Given the description of an element on the screen output the (x, y) to click on. 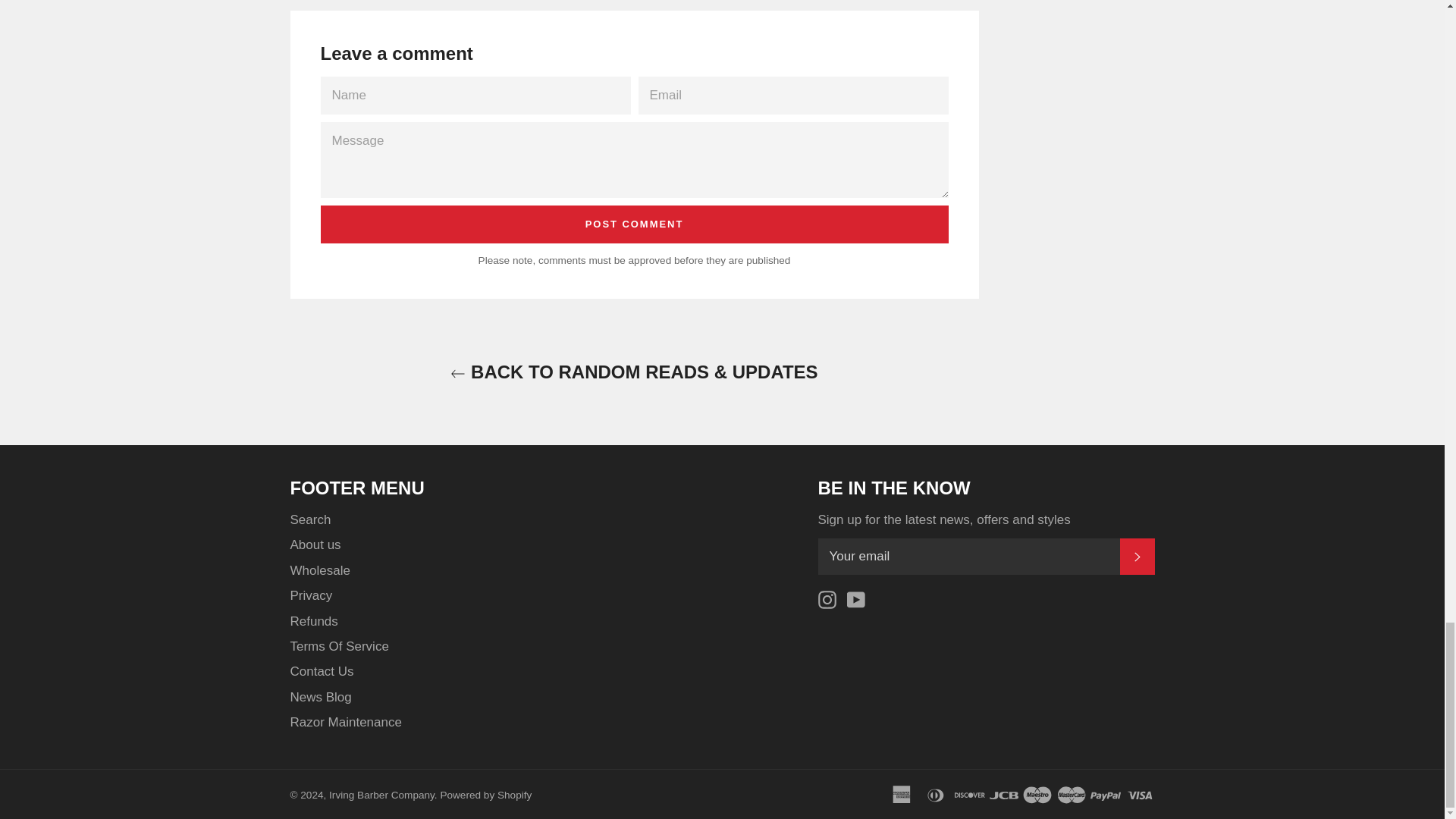
Post comment (633, 224)
Post comment (633, 224)
